Given the description of an element on the screen output the (x, y) to click on. 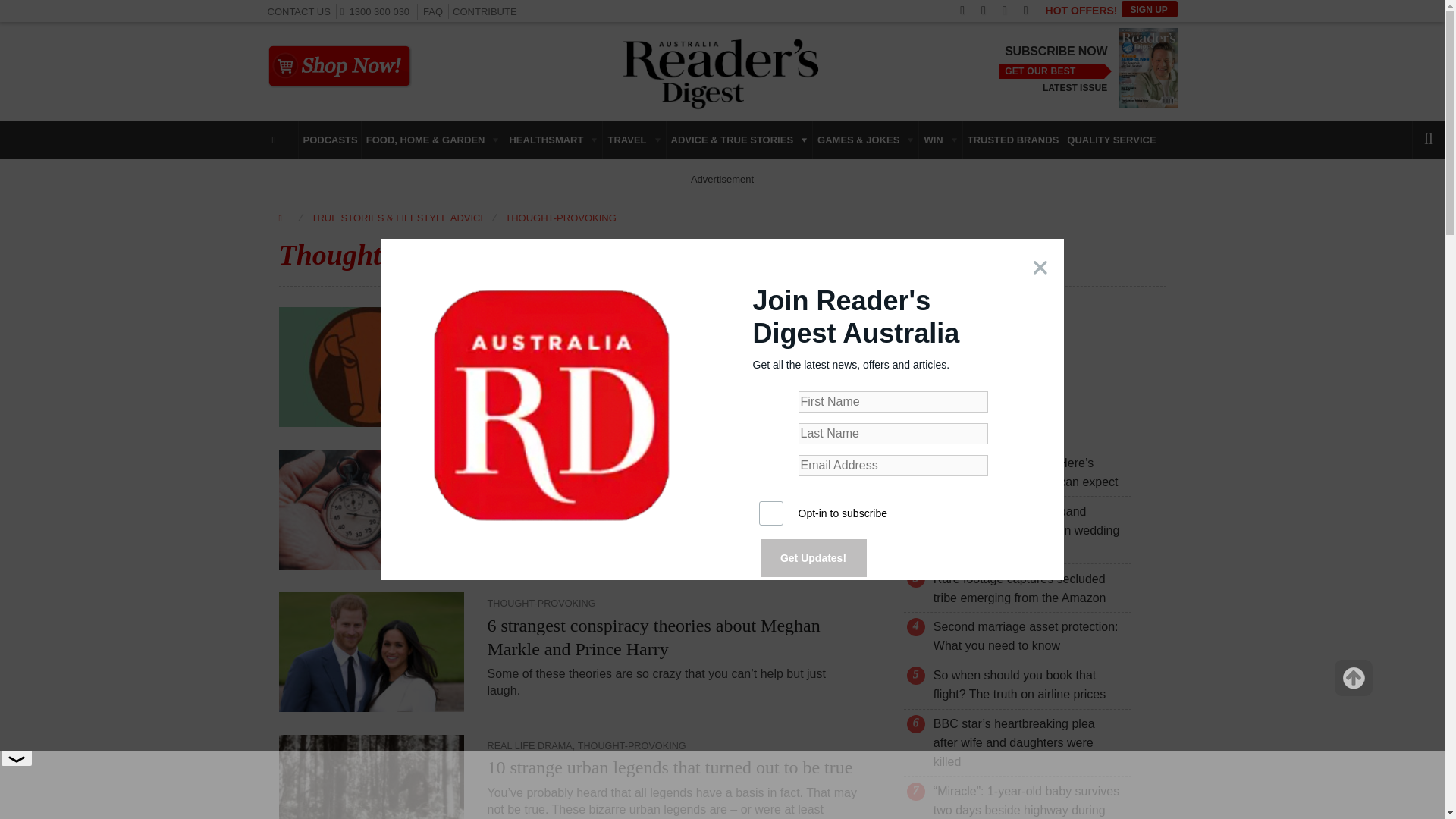
SUBSCRIBE NOW (1055, 51)
CONTRIBUTE (484, 11)
TRAVEL (633, 139)
HEALTHSMART (552, 139)
FAQ (432, 11)
CONTACT US (298, 11)
PODCASTS (329, 139)
1300 300 030 (378, 11)
LATEST ISSUE (1074, 87)
SIGN UP (1148, 8)
